Given the description of an element on the screen output the (x, y) to click on. 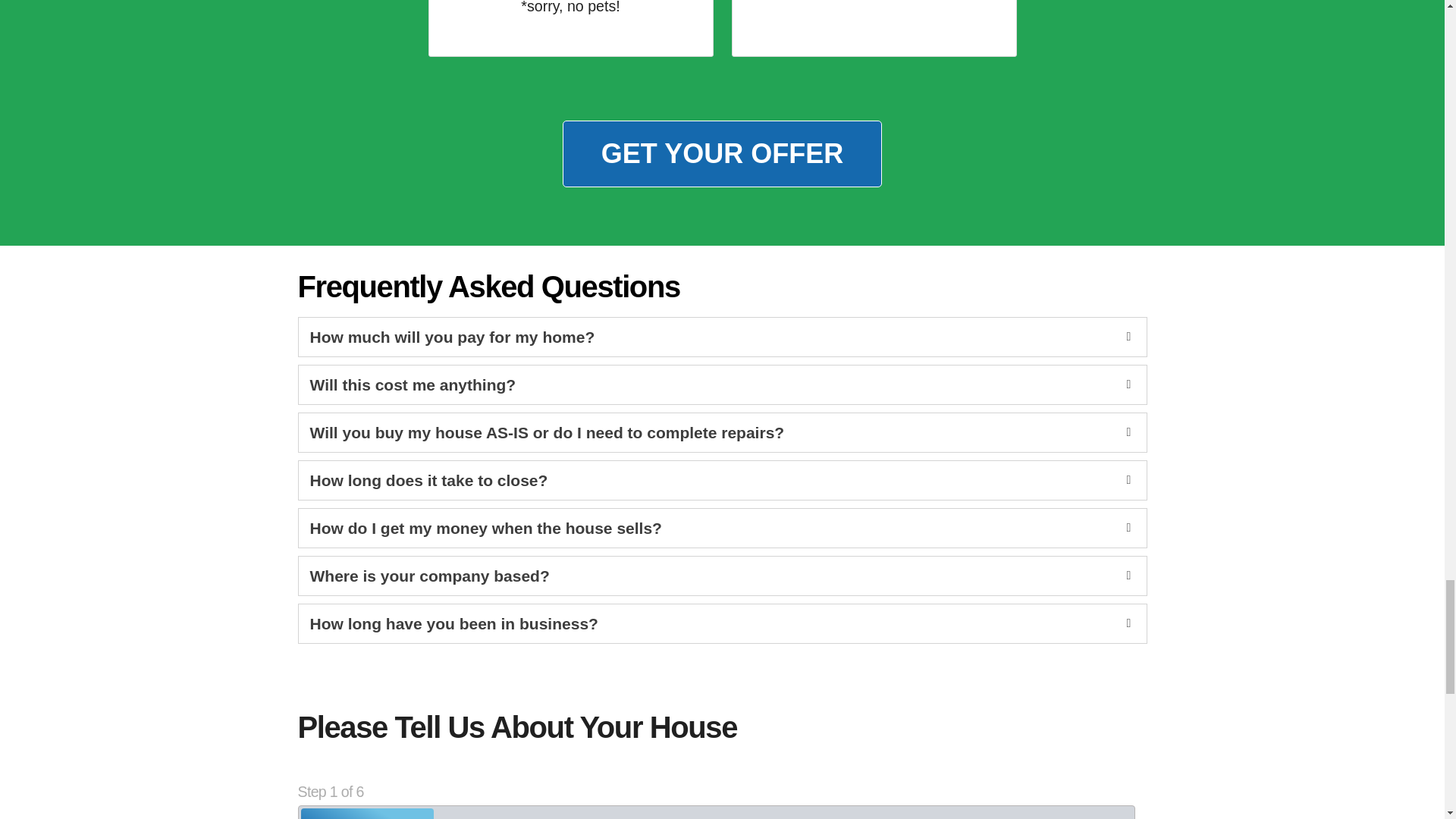
GET YOUR OFFER (722, 153)
